Given the description of an element on the screen output the (x, y) to click on. 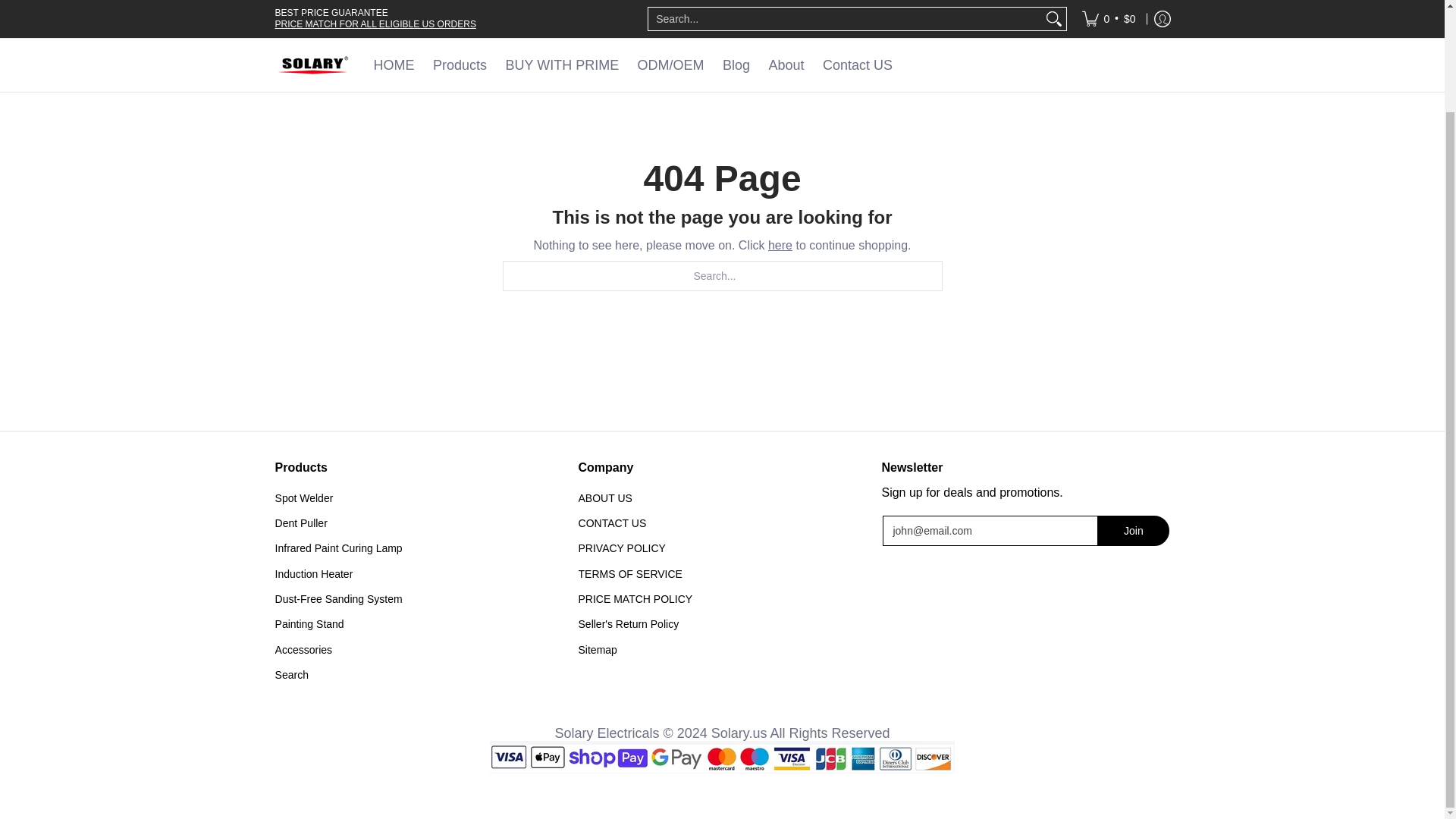
Infrared Paint Curing Lamp (419, 548)
Dent Puller (419, 522)
Painting Stand (419, 624)
Dust-Free Sanding System (419, 598)
here (780, 245)
Spot Welder (419, 497)
Induction Heater (419, 573)
